Given the description of an element on the screen output the (x, y) to click on. 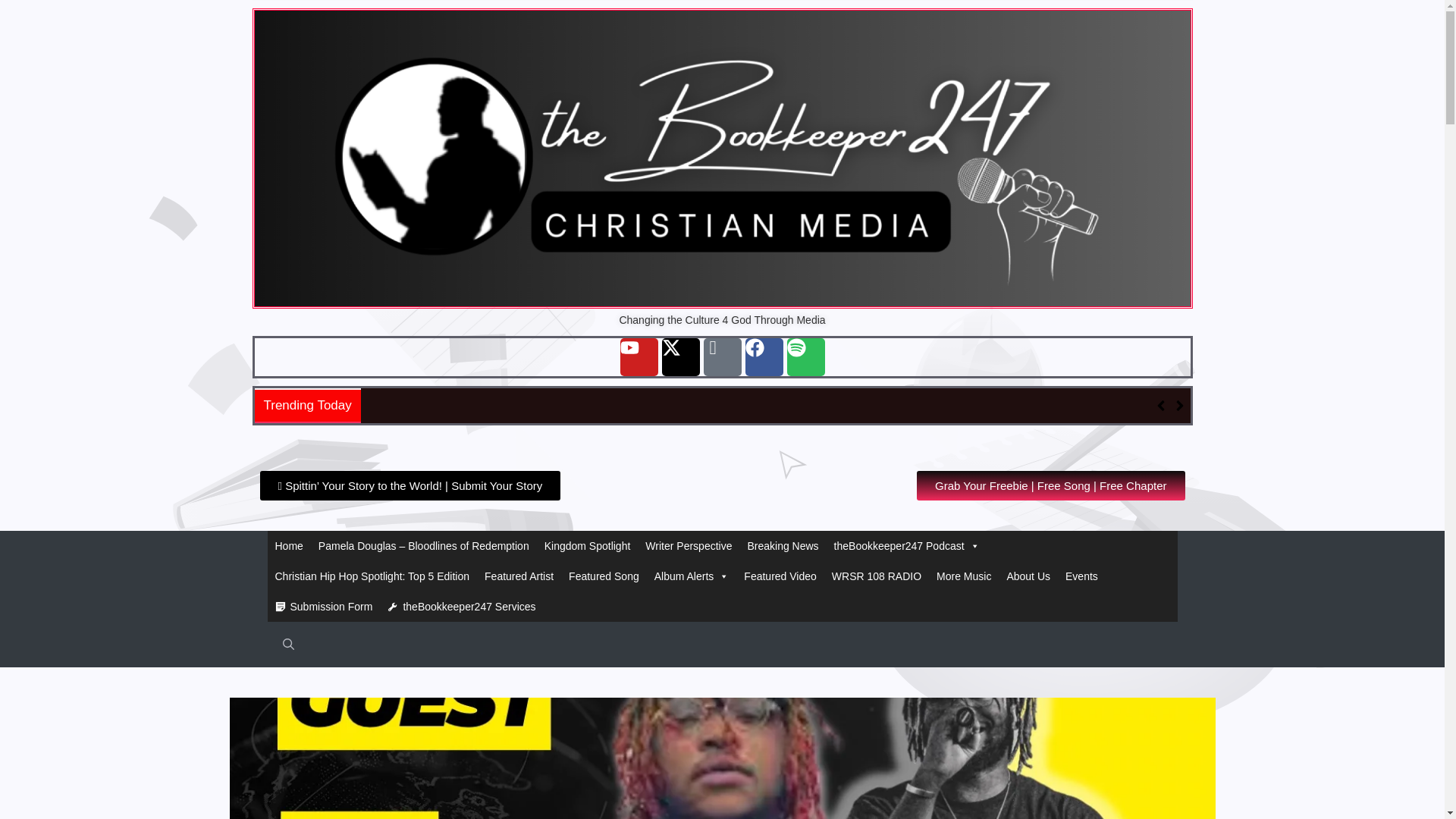
Kingdom Spotlight (588, 545)
Home (288, 545)
Featured Artist (518, 576)
Christian Hip Hop Spotlight: Top 5 Edition (371, 576)
theBookkeeper247 Podcast (907, 545)
Album Alerts (691, 576)
Featured Song (603, 576)
Breaking News (782, 545)
Writer Perspective (688, 545)
